Given the description of an element on the screen output the (x, y) to click on. 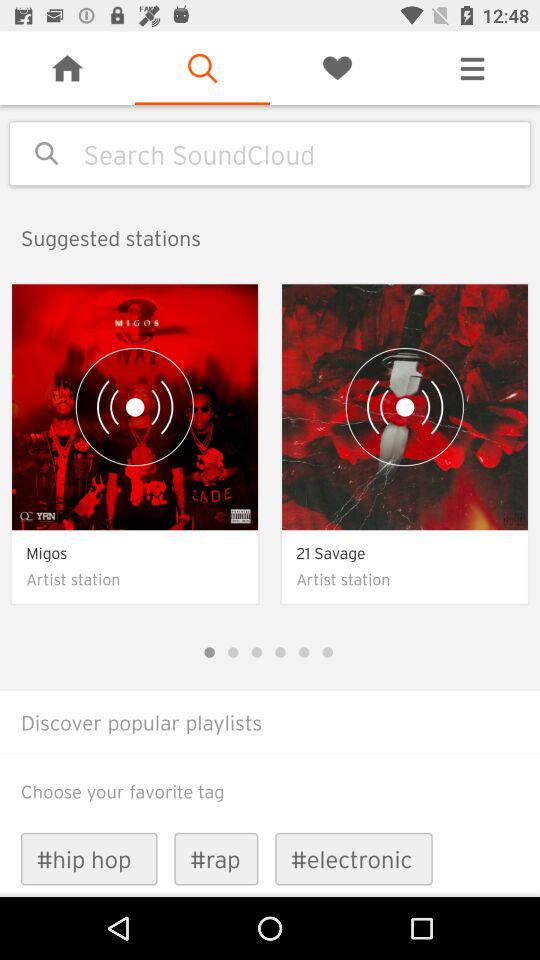
choose the item next to #rap item (353, 858)
